Given the description of an element on the screen output the (x, y) to click on. 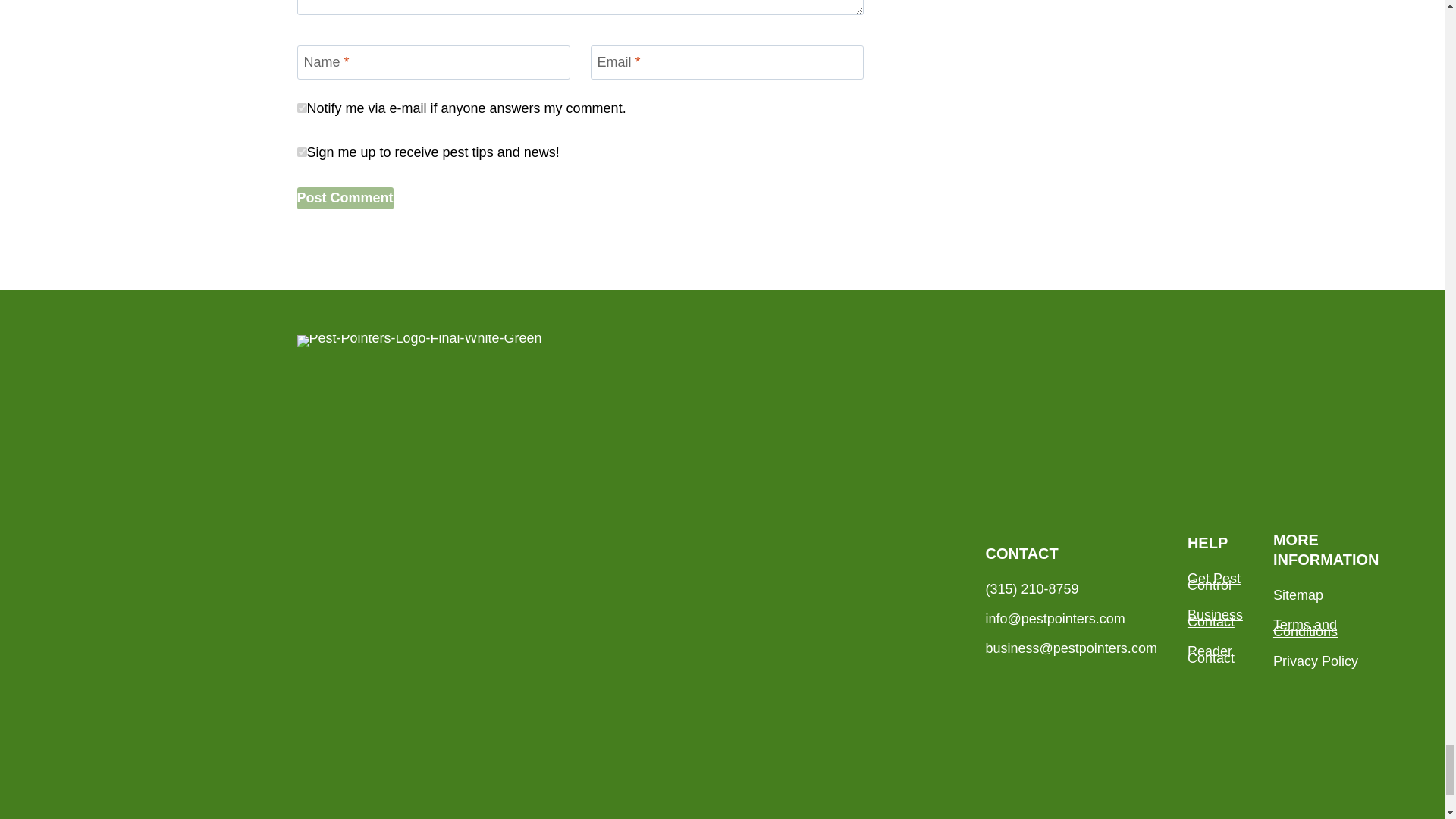
on (302, 108)
Post Comment (345, 198)
1 (302, 152)
